Given the description of an element on the screen output the (x, y) to click on. 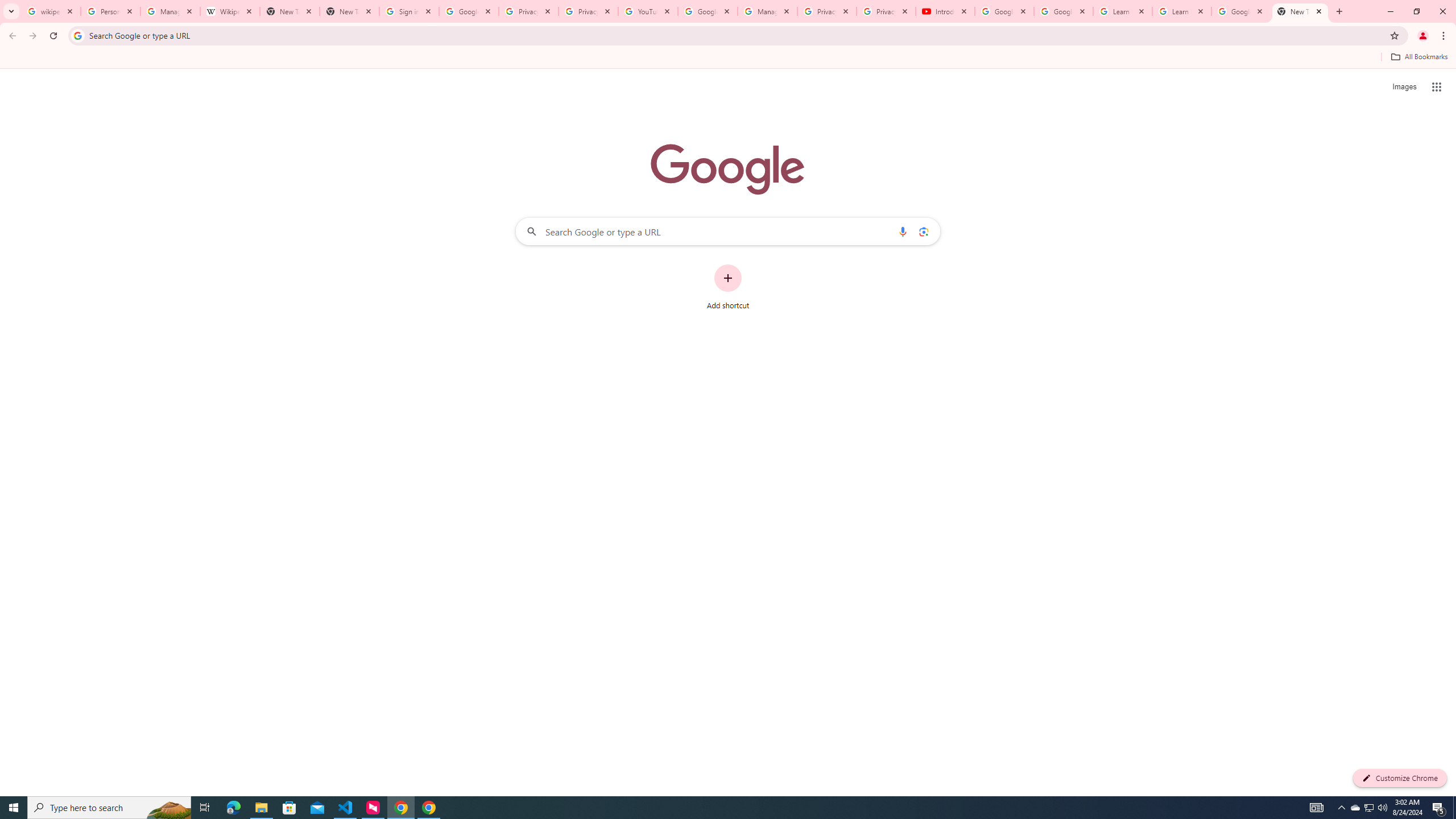
Google Account Help (1063, 11)
Google Drive: Sign-in (468, 11)
